Given the description of an element on the screen output the (x, y) to click on. 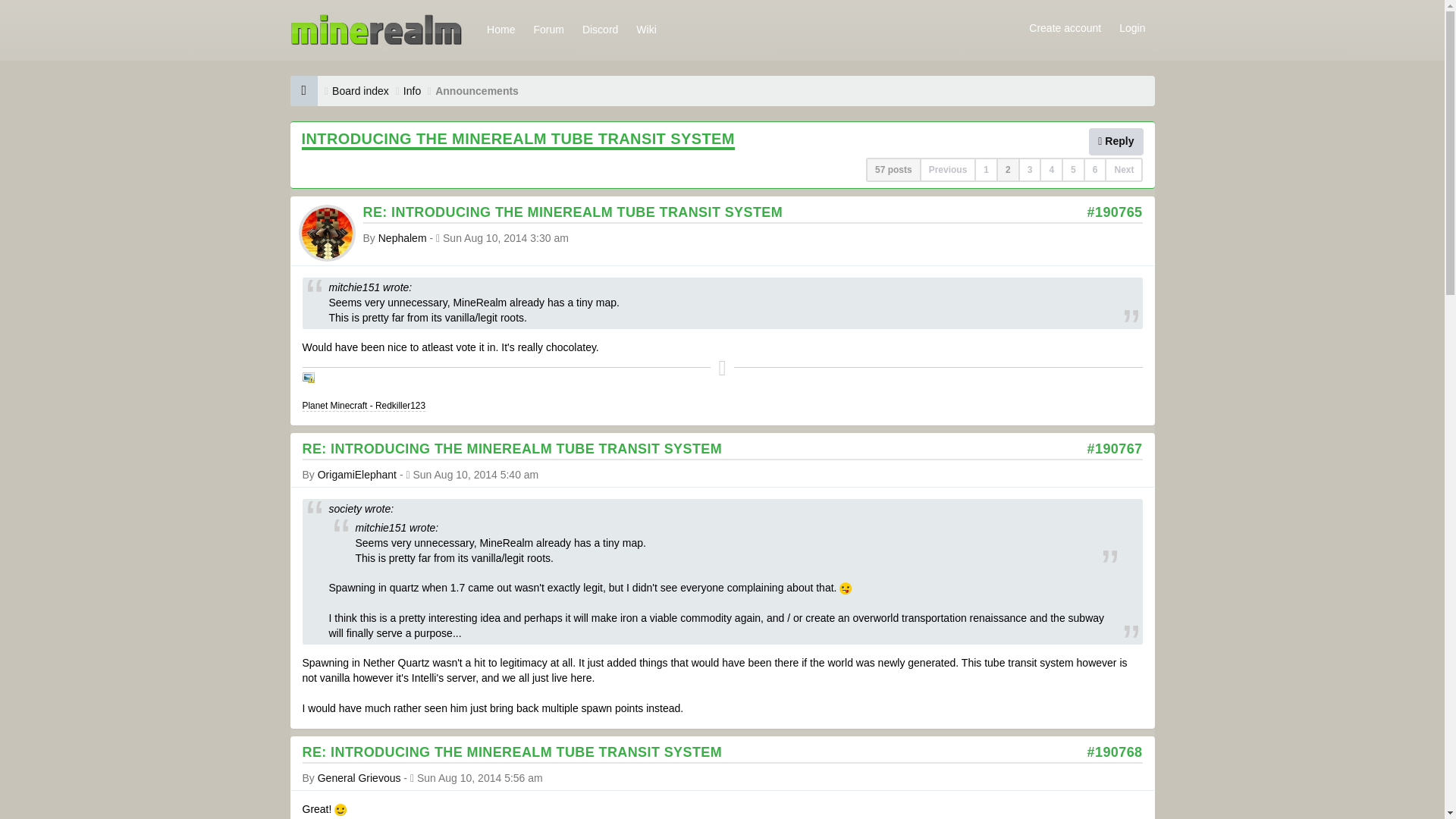
4 (1050, 169)
Home (500, 29)
Wiki (646, 29)
User mini profile (326, 232)
6 (1094, 169)
Create account (1064, 27)
3 (1029, 169)
Forum (548, 29)
Next (1123, 169)
Login (1131, 27)
57 posts (893, 169)
Info (411, 91)
Previous (948, 169)
1 (985, 169)
Board index (359, 91)
